Given the description of an element on the screen output the (x, y) to click on. 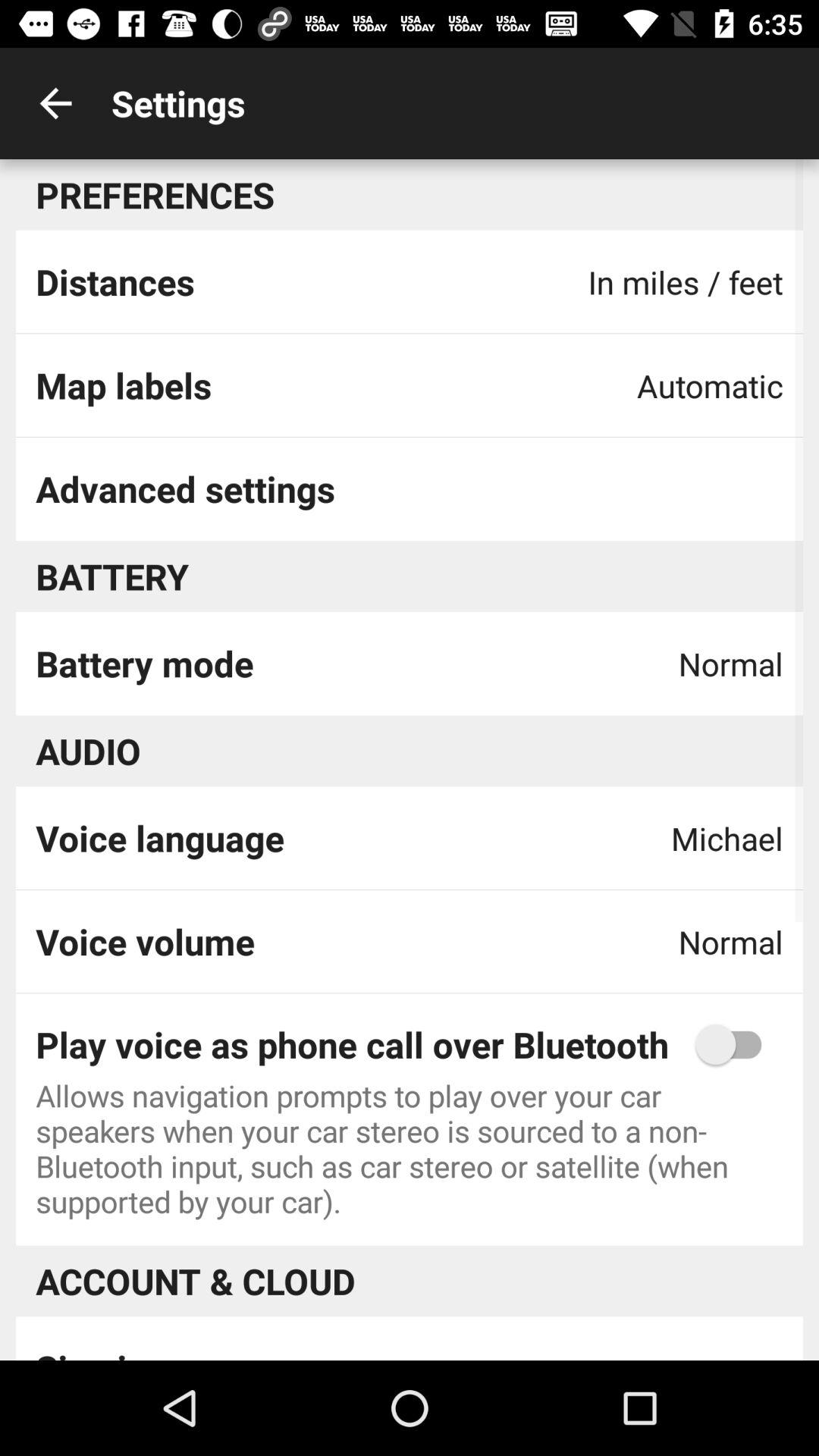
turn on app next to normal (144, 941)
